Given the description of an element on the screen output the (x, y) to click on. 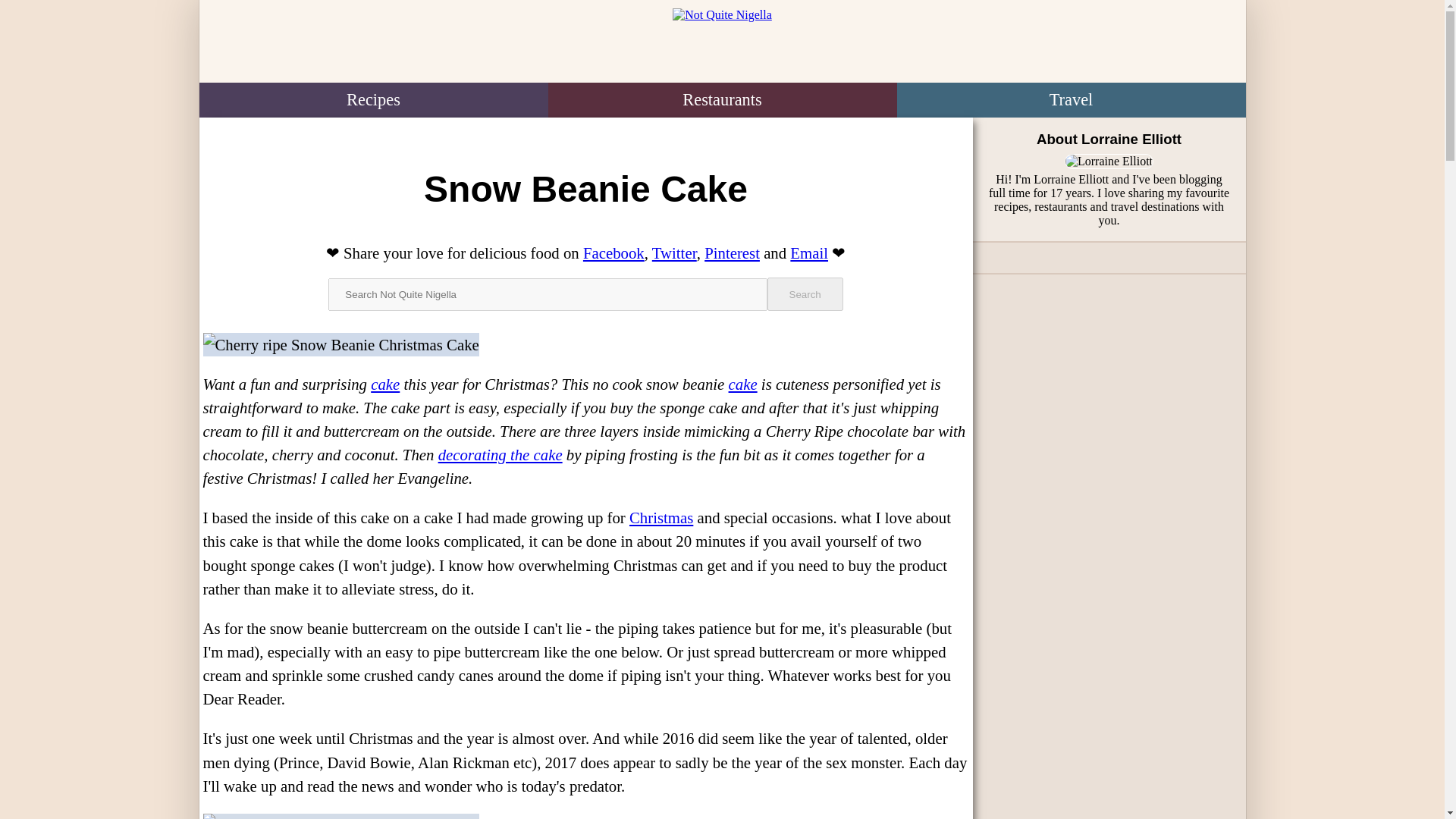
Share on Facebook (614, 252)
Email (809, 252)
Facebook (614, 252)
Search (805, 294)
Tweet (674, 252)
Pin it (732, 252)
Pinterest (732, 252)
Search (805, 294)
cake (743, 384)
delicious food (513, 252)
